Given the description of an element on the screen output the (x, y) to click on. 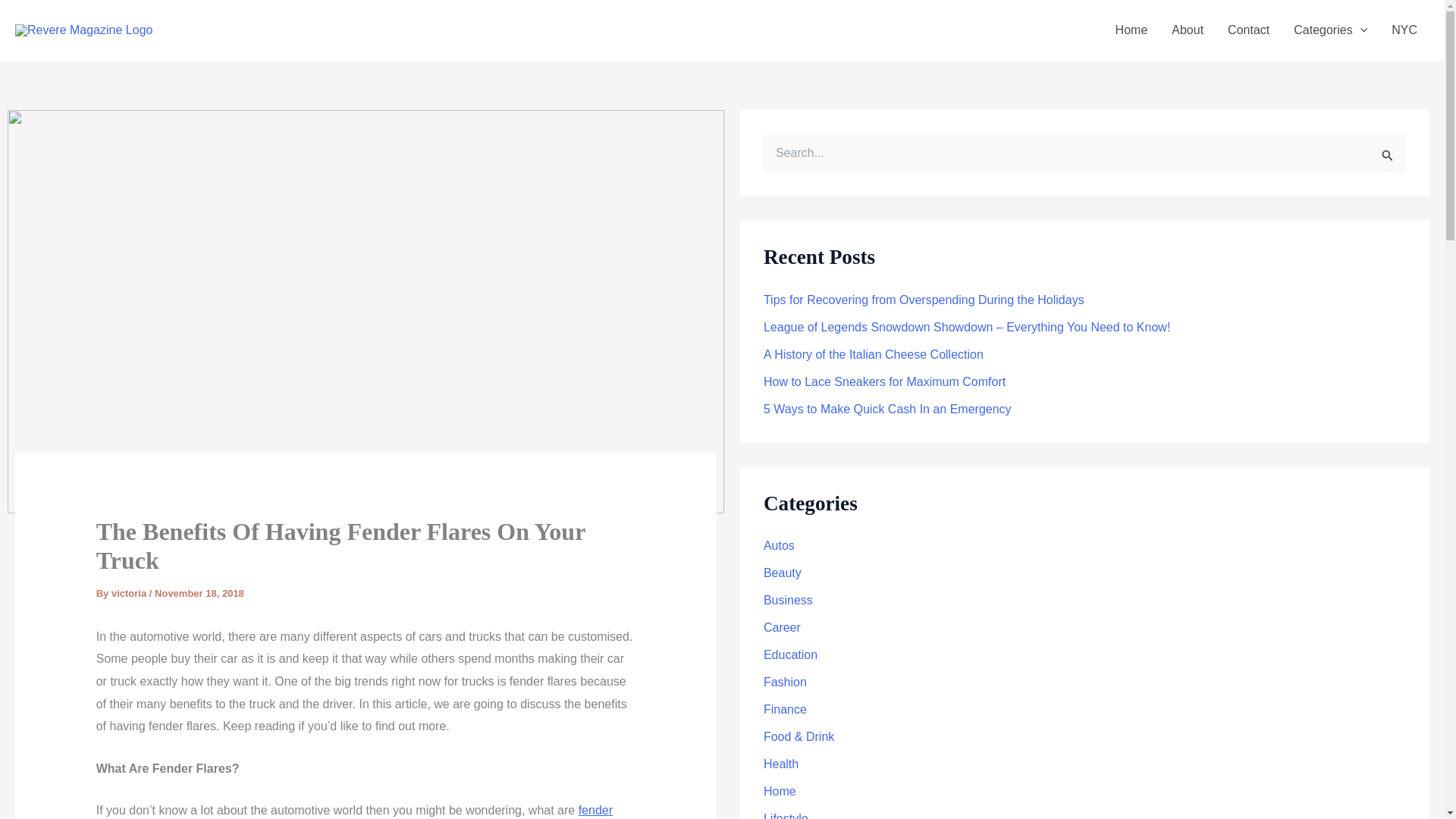
View all posts by victoria (130, 593)
Categories (1329, 30)
Home (1131, 30)
About (1186, 30)
victoria (130, 593)
Contact (1248, 30)
fender flares (354, 811)
